Given the description of an element on the screen output the (x, y) to click on. 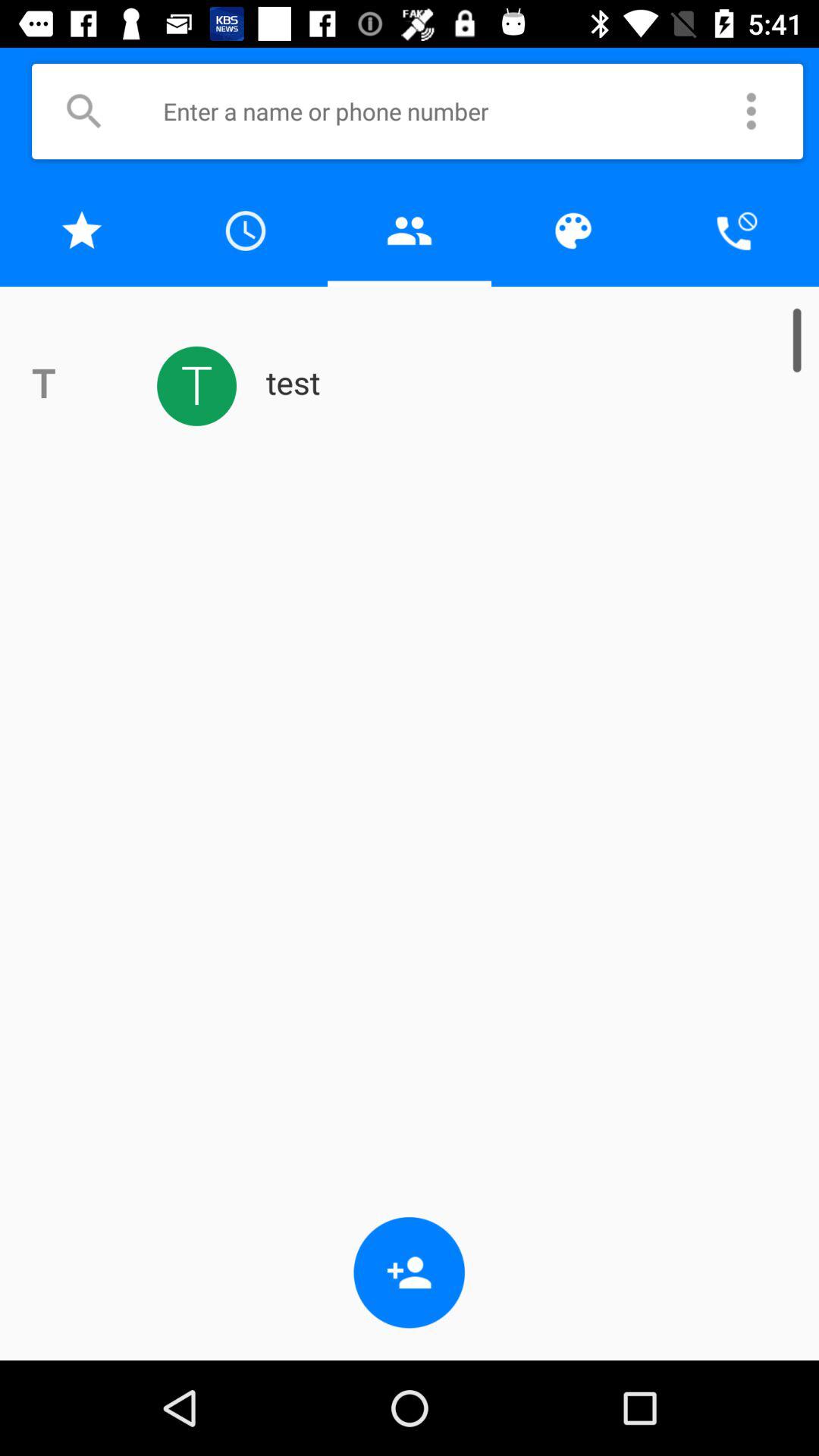
toggle history (245, 230)
